Given the description of an element on the screen output the (x, y) to click on. 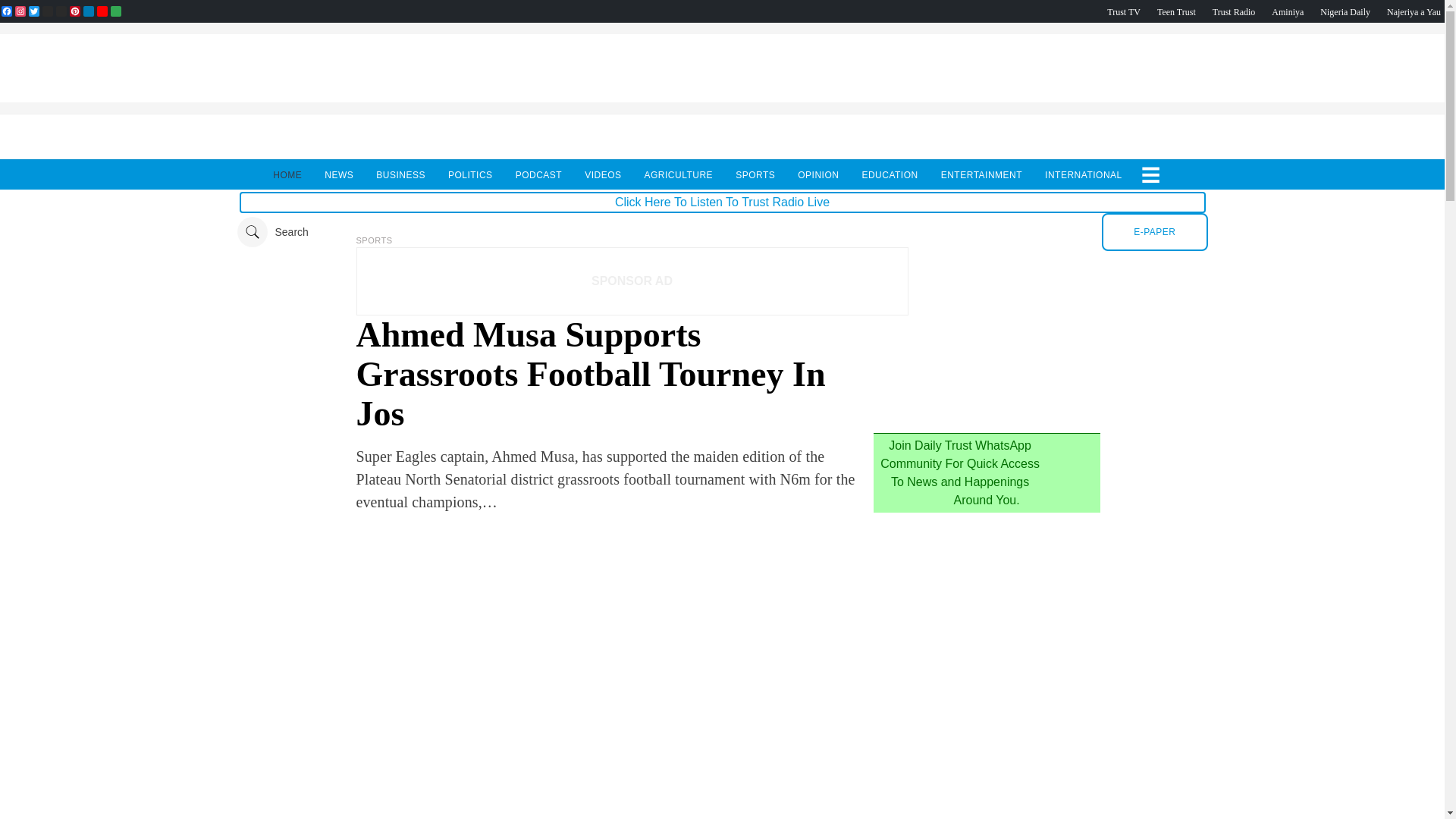
Trust TV (1123, 11)
Nigeria Daily (1345, 11)
Sports (374, 239)
Facebook (6, 10)
Saurari Shirye Shiryenmu (1414, 11)
Podcast (1345, 11)
Threads (47, 10)
Pinterest (74, 10)
Trust TV Live (1123, 11)
Instagram (20, 10)
Teen Trust (1176, 11)
Dailytrust (722, 231)
Search (271, 232)
Google Maps (115, 10)
NEWS (338, 174)
